Given the description of an element on the screen output the (x, y) to click on. 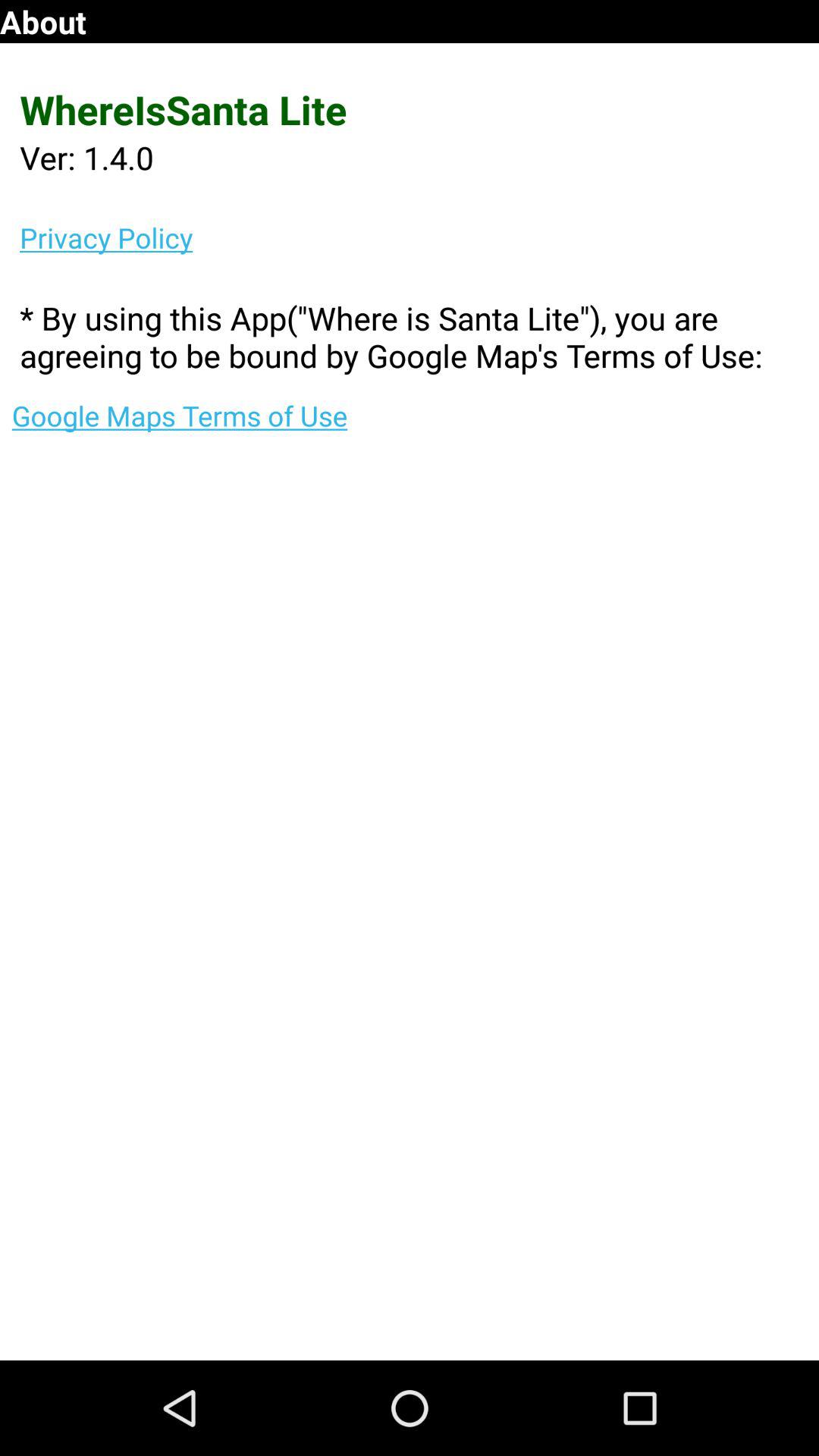
select privacy policy item (419, 237)
